Given the description of an element on the screen output the (x, y) to click on. 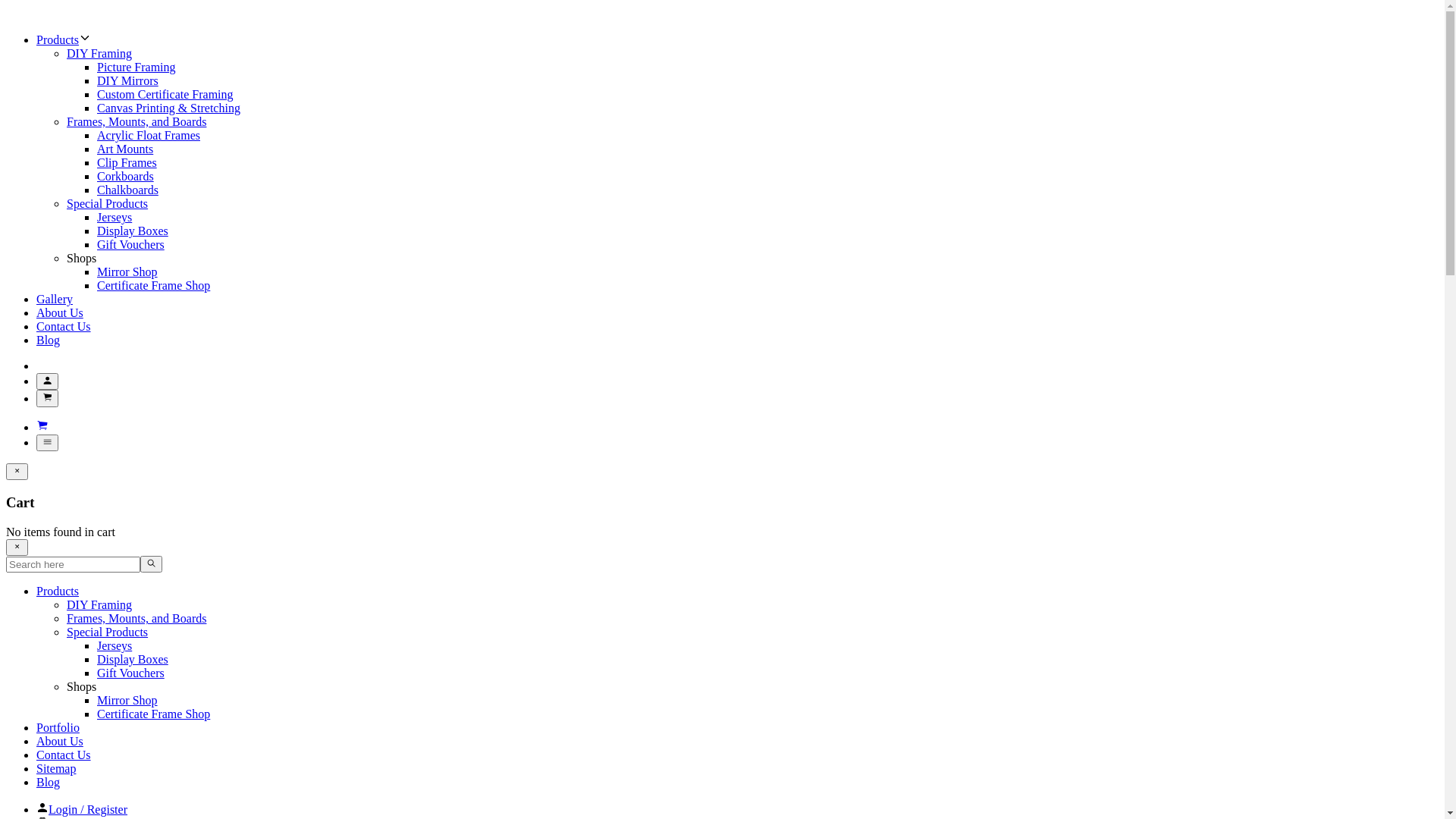
DIY Framing Element type: text (98, 53)
Mirror Shop Element type: text (127, 699)
About Us Element type: text (59, 312)
Login / Register Element type: text (87, 809)
Art Mounts Element type: text (125, 148)
DIY Framing Element type: text (98, 604)
Products Element type: text (57, 590)
Gift Vouchers Element type: text (130, 672)
Frames, Mounts, and Boards Element type: text (136, 617)
Gift Vouchers Element type: text (130, 244)
Contact Us Element type: text (63, 754)
Display Boxes Element type: text (132, 658)
Blog Element type: text (47, 339)
Acrylic Float Frames Element type: text (148, 134)
Products Element type: text (57, 39)
DIY Mirrors Element type: text (127, 80)
Contact Us Element type: text (63, 326)
Mirror Shop Element type: text (127, 271)
About Us Element type: text (59, 740)
Portfolio Element type: text (57, 727)
Special Products Element type: text (106, 203)
Special Products Element type: text (106, 631)
Display Boxes Element type: text (132, 230)
Chalkboards Element type: text (127, 189)
Jerseys Element type: text (114, 645)
Shops Element type: text (81, 257)
Frames, Mounts, and Boards Element type: text (136, 121)
Shops Element type: text (81, 686)
Jerseys Element type: text (114, 216)
Gallery Element type: text (54, 298)
Certificate Frame Shop Element type: text (153, 713)
Certificate Frame Shop Element type: text (153, 285)
Custom Certificate Framing Element type: text (165, 93)
Picture Framing Element type: text (136, 66)
Blog Element type: text (47, 781)
Canvas Printing & Stretching Element type: text (168, 107)
Sitemap Element type: text (55, 768)
Clip Frames Element type: text (126, 162)
Corkboards Element type: text (125, 175)
